Given the description of an element on the screen output the (x, y) to click on. 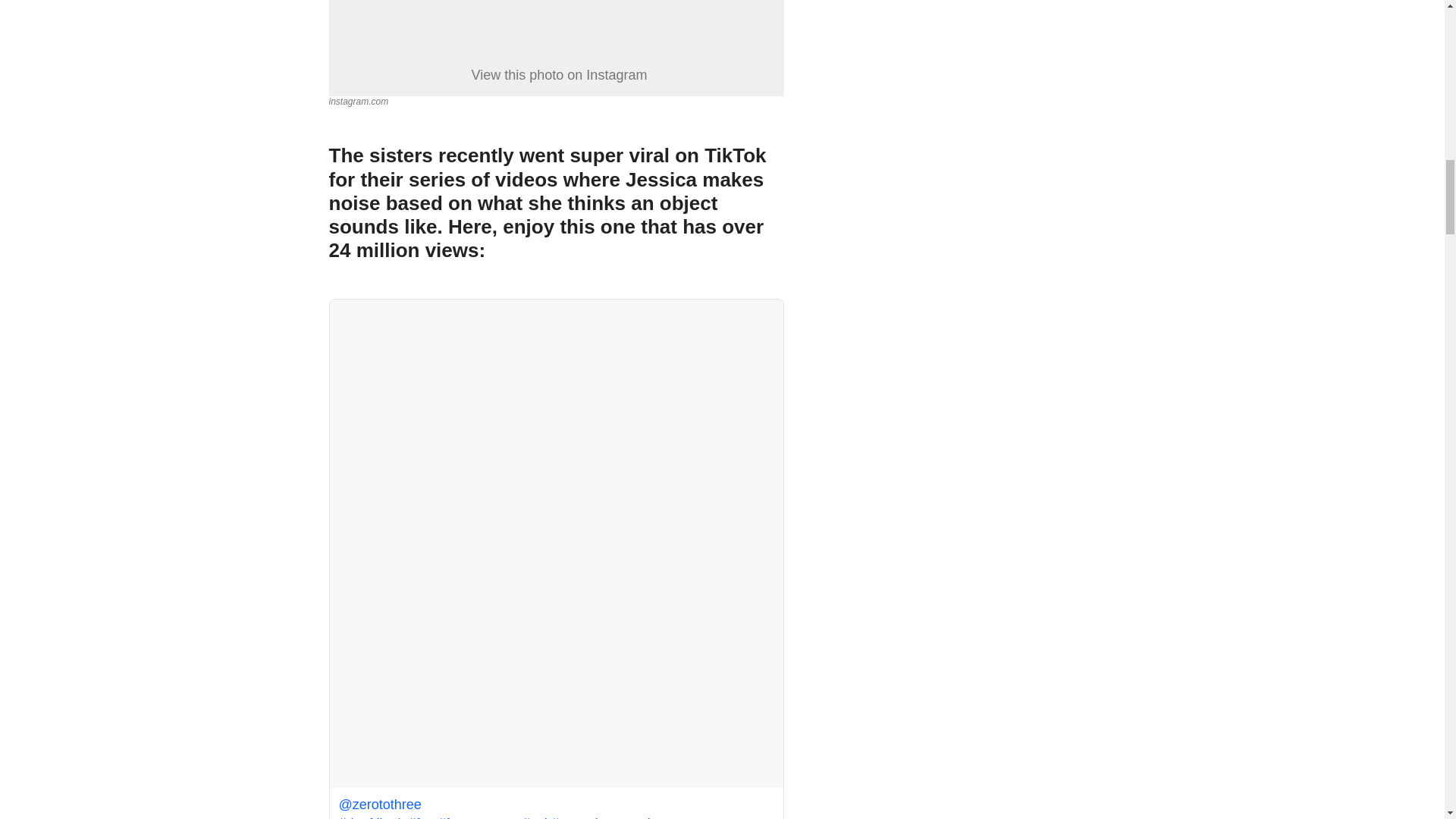
fyp (421, 817)
asl (534, 817)
guessingsounds (604, 817)
foryourpage (478, 817)
deaftiktok (370, 812)
